Given the description of an element on the screen output the (x, y) to click on. 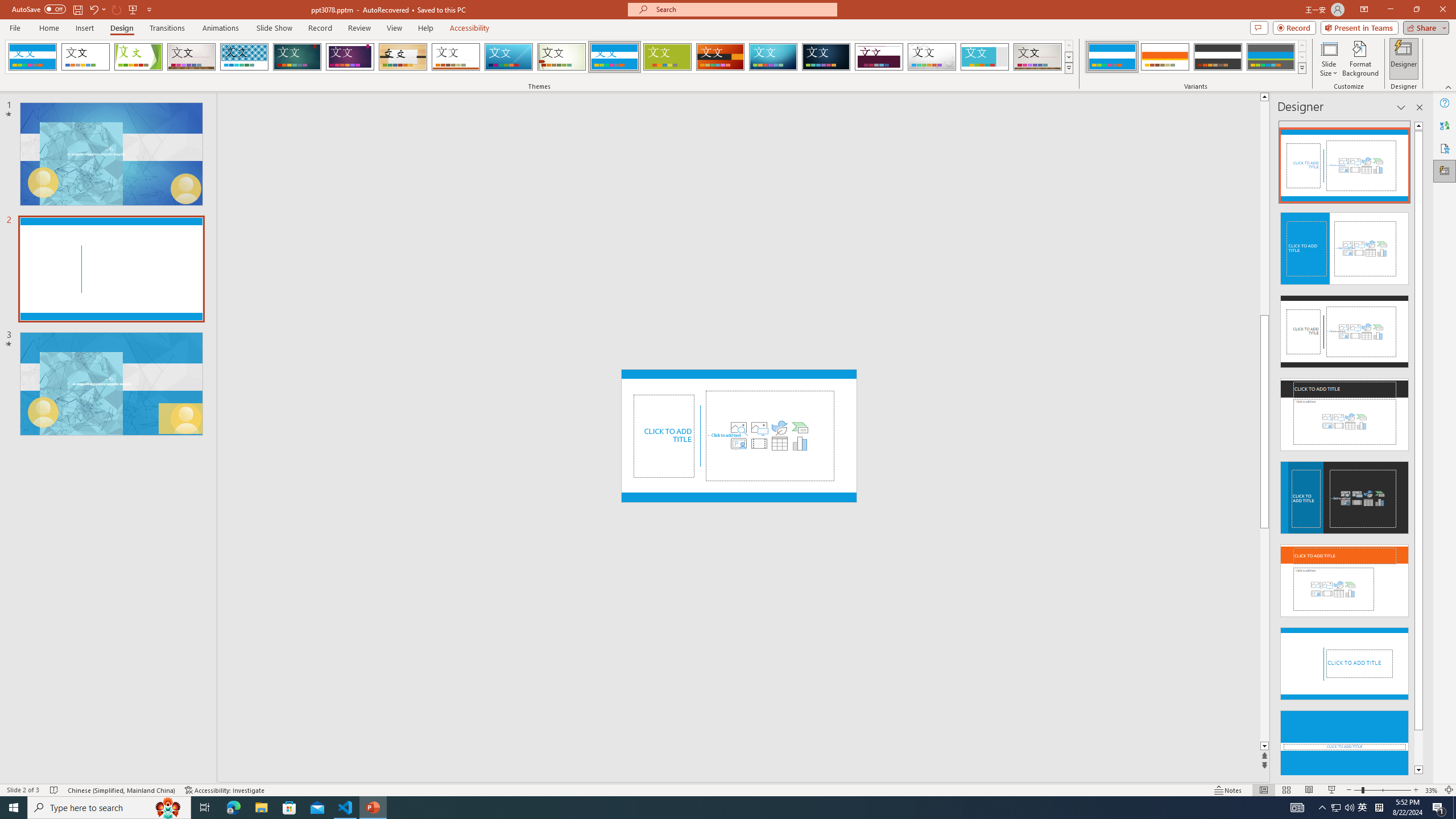
Banded (614, 56)
Banded Variant 1 (1112, 56)
Page down (1264, 634)
Page up (1264, 207)
Berlin (720, 56)
